Given the description of an element on the screen output the (x, y) to click on. 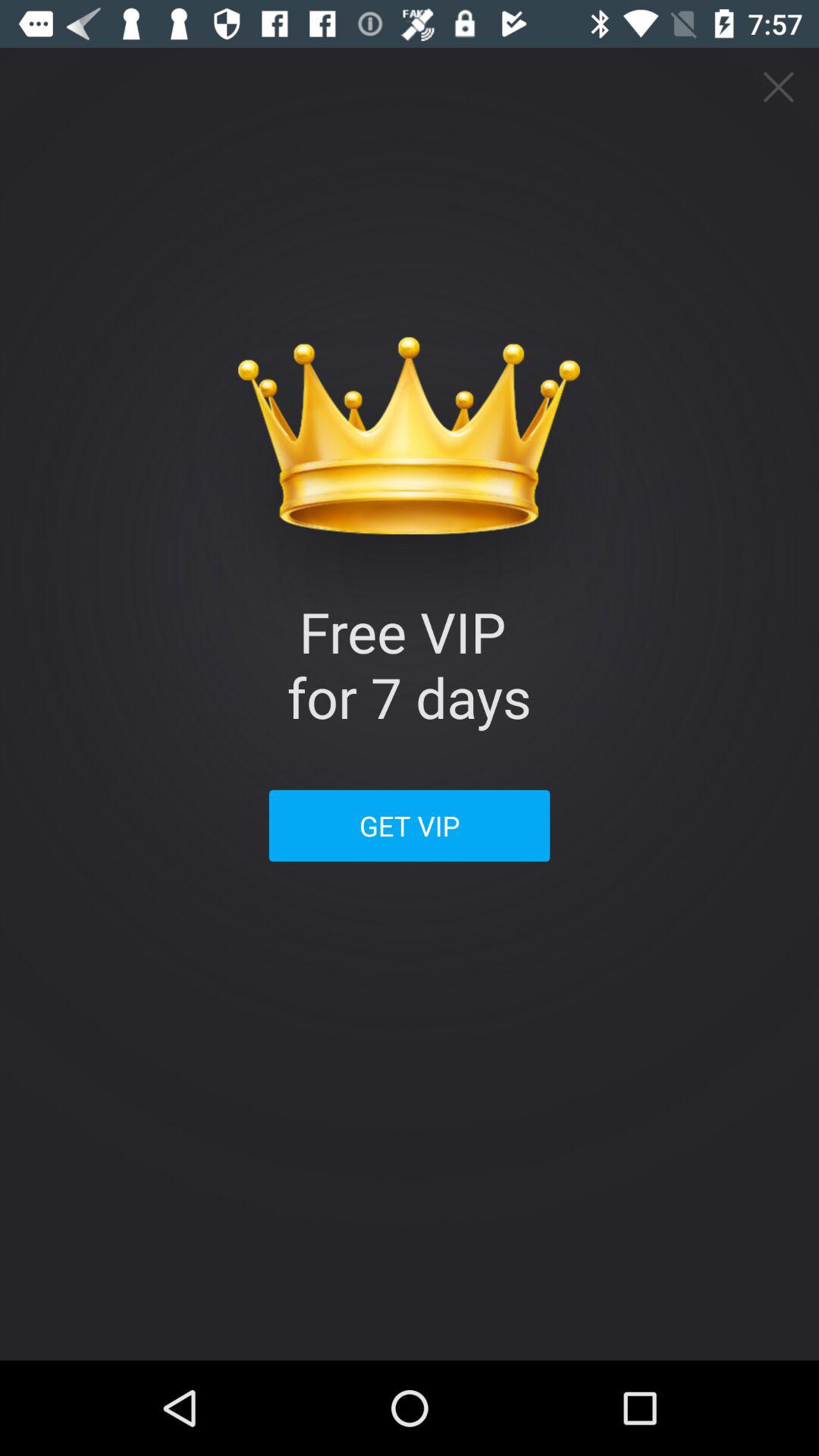
launch get vip (409, 825)
